Given the description of an element on the screen output the (x, y) to click on. 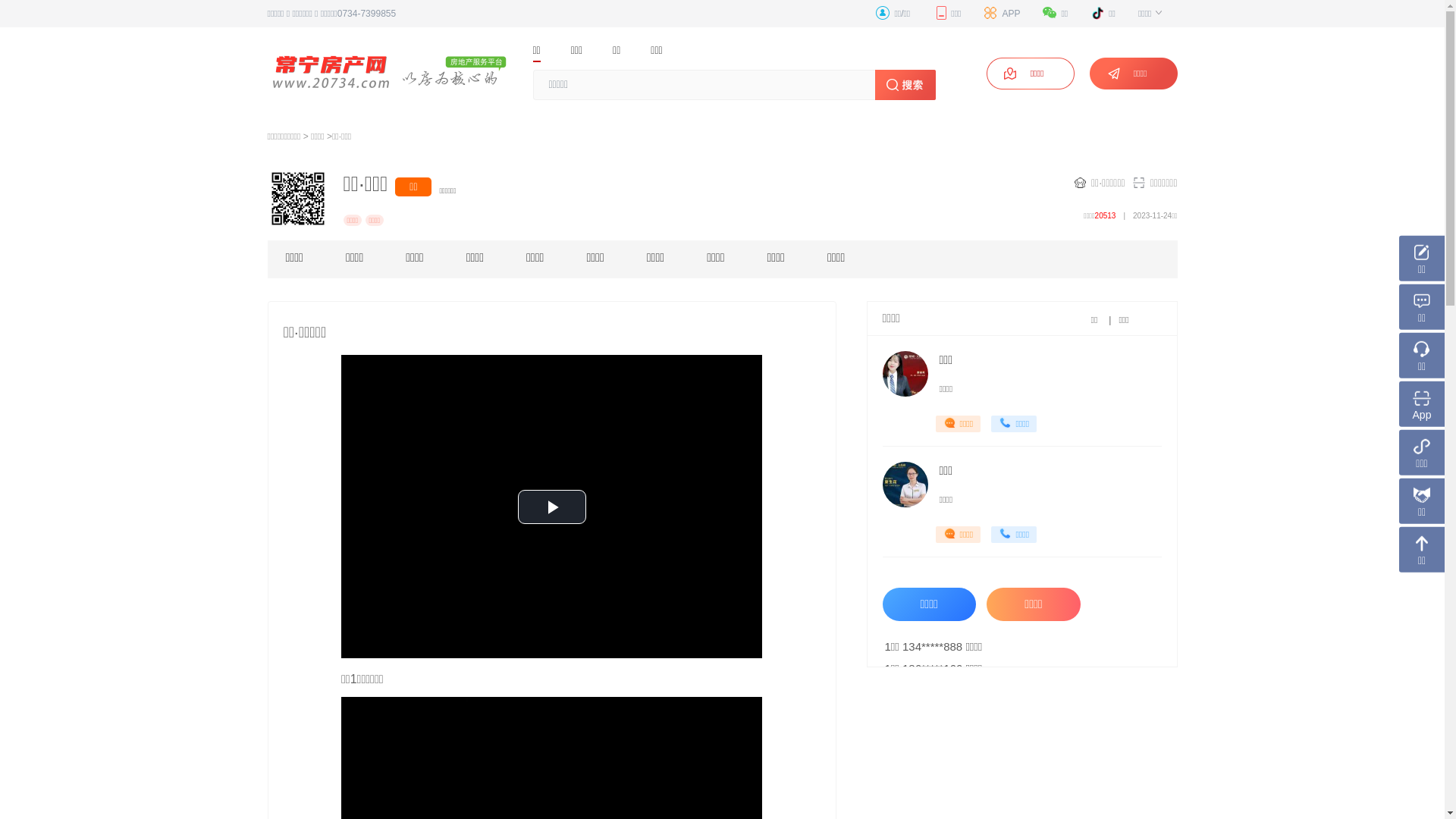
APP Element type: text (1001, 13)
Play Video Element type: text (551, 506)
App Element type: text (1421, 403)
